Given the description of an element on the screen output the (x, y) to click on. 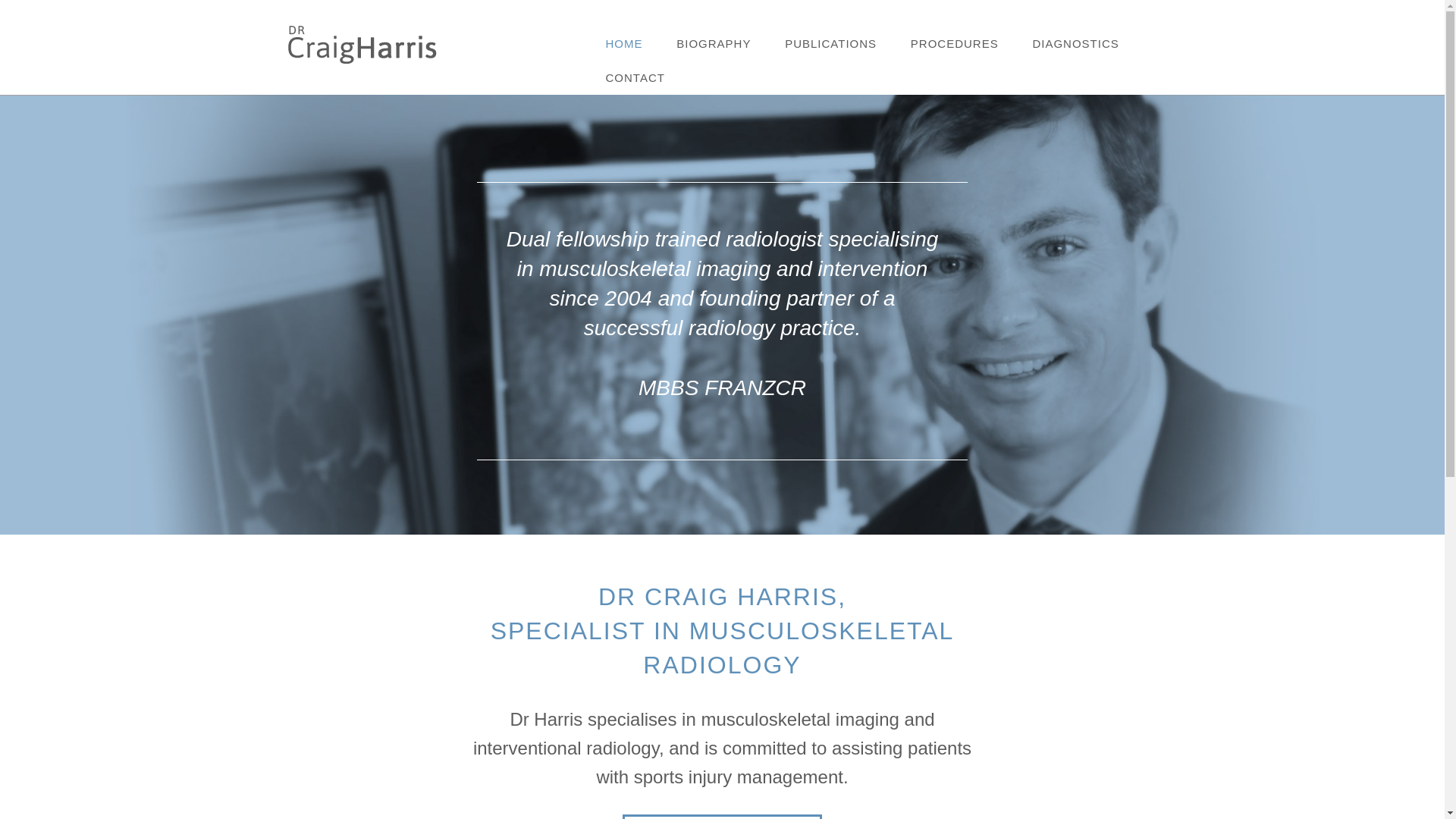
DIAGNOSTICS Element type: text (1074, 43)
HOME Element type: text (623, 43)
NECK AND BACK INJECTIONS Element type: text (971, 83)
PUBLICATIONS Element type: text (830, 43)
CONTACT Element type: text (634, 77)
PROCEDURES Element type: text (954, 43)
CT SCAN Element type: text (1092, 77)
BIOGRAPHY Element type: text (713, 43)
Dr Craig Harris Element type: hover (361, 43)
